Given the description of an element on the screen output the (x, y) to click on. 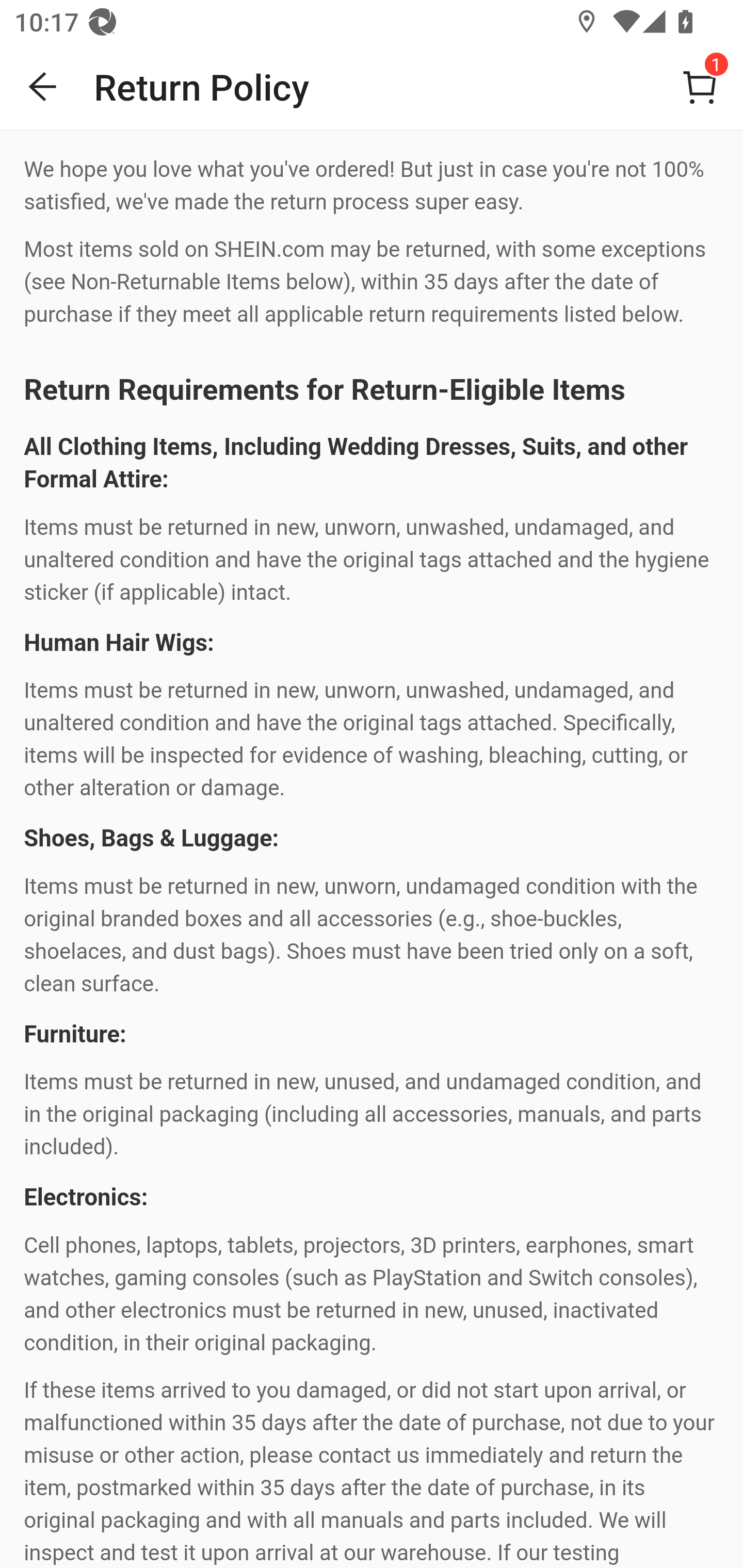
BACK (43, 86)
Cart 1 (699, 86)
